Given the description of an element on the screen output the (x, y) to click on. 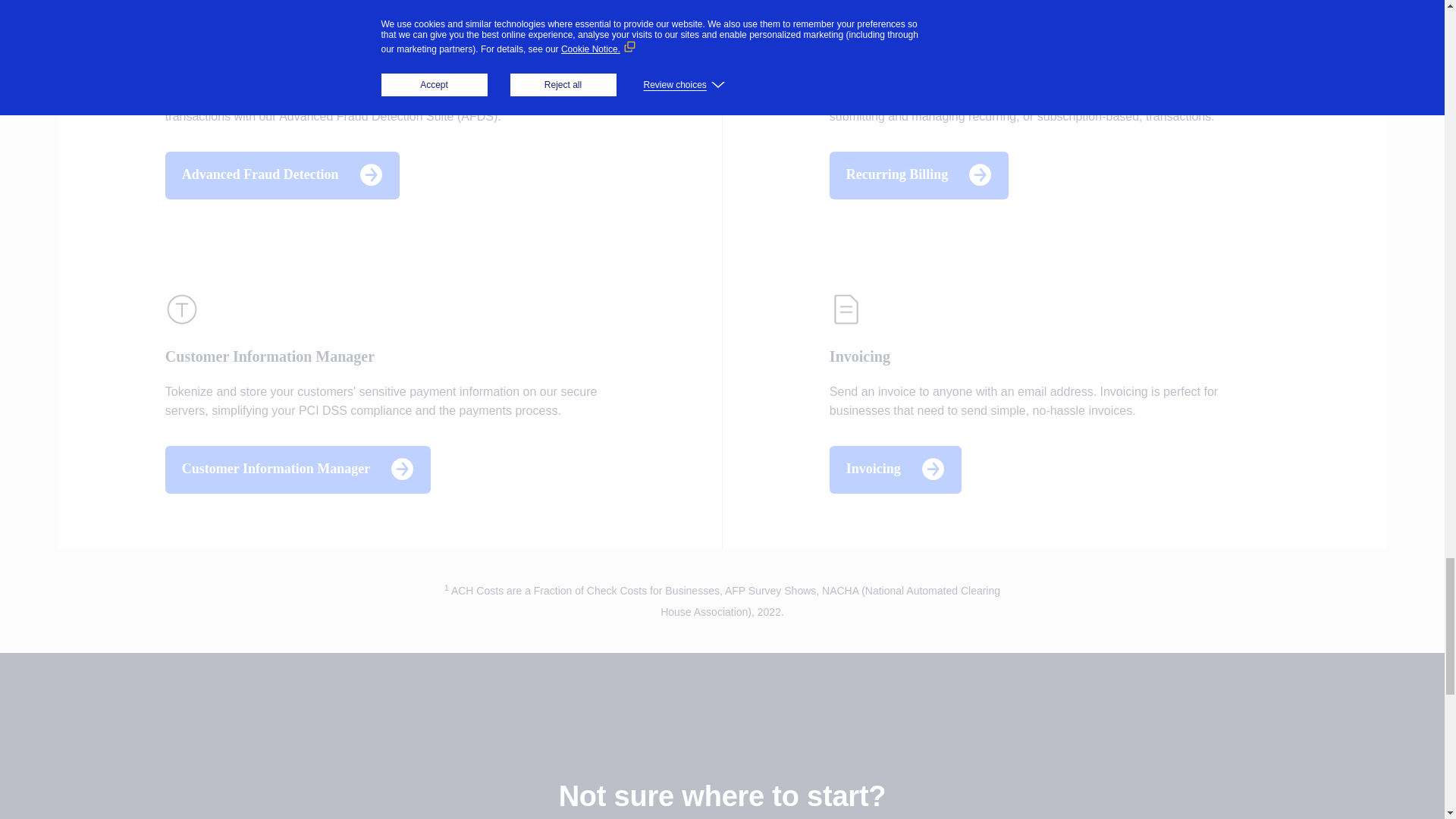
Invoicing (900, 467)
Recurring Billing (924, 173)
Customer Information Manager (303, 467)
Advanced Fraud Detection (287, 173)
